Given the description of an element on the screen output the (x, y) to click on. 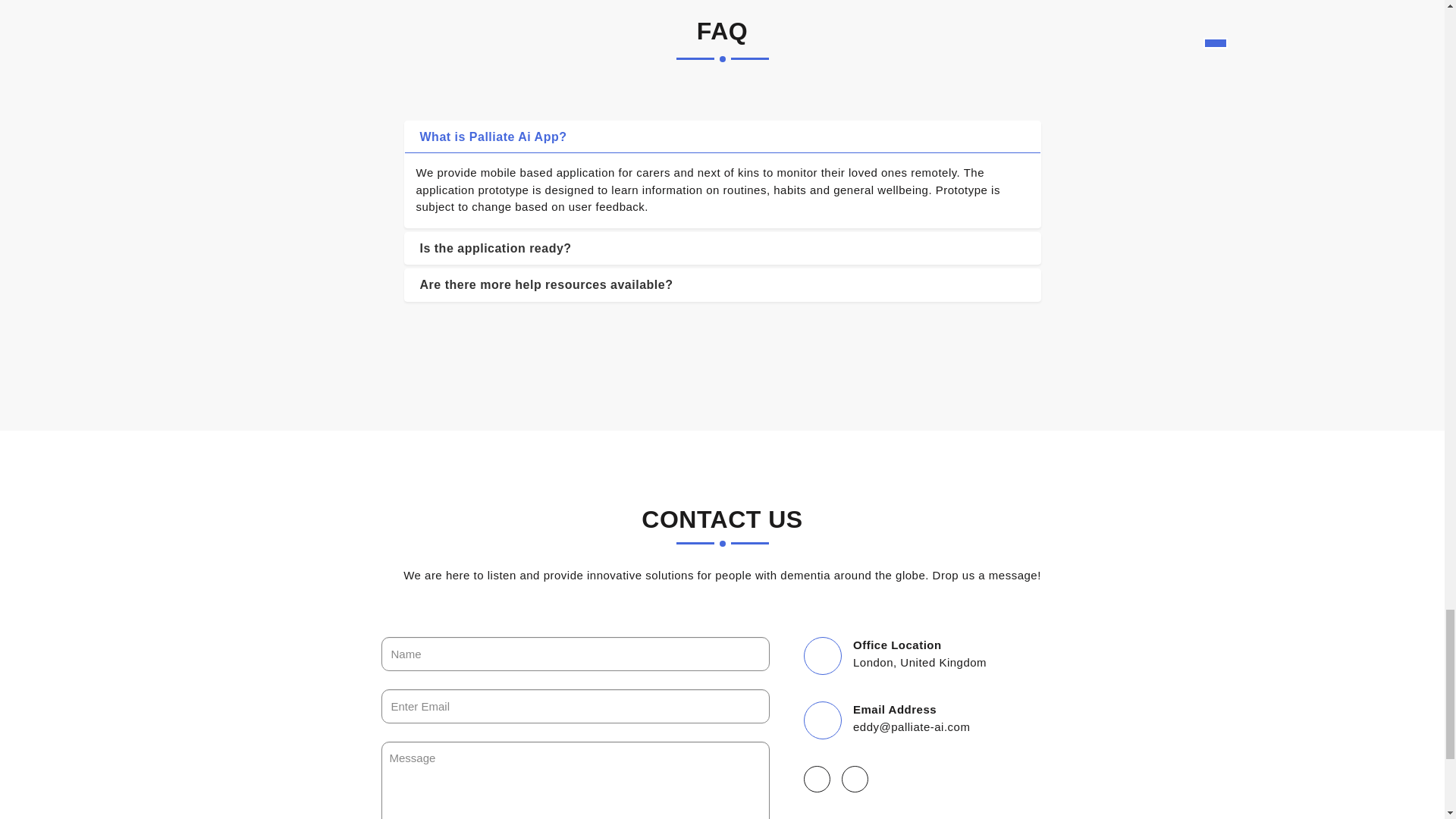
What is Palliate Ai App? (722, 137)
Is the application ready? (722, 248)
Are there more help resources available? (722, 285)
